Given the description of an element on the screen output the (x, y) to click on. 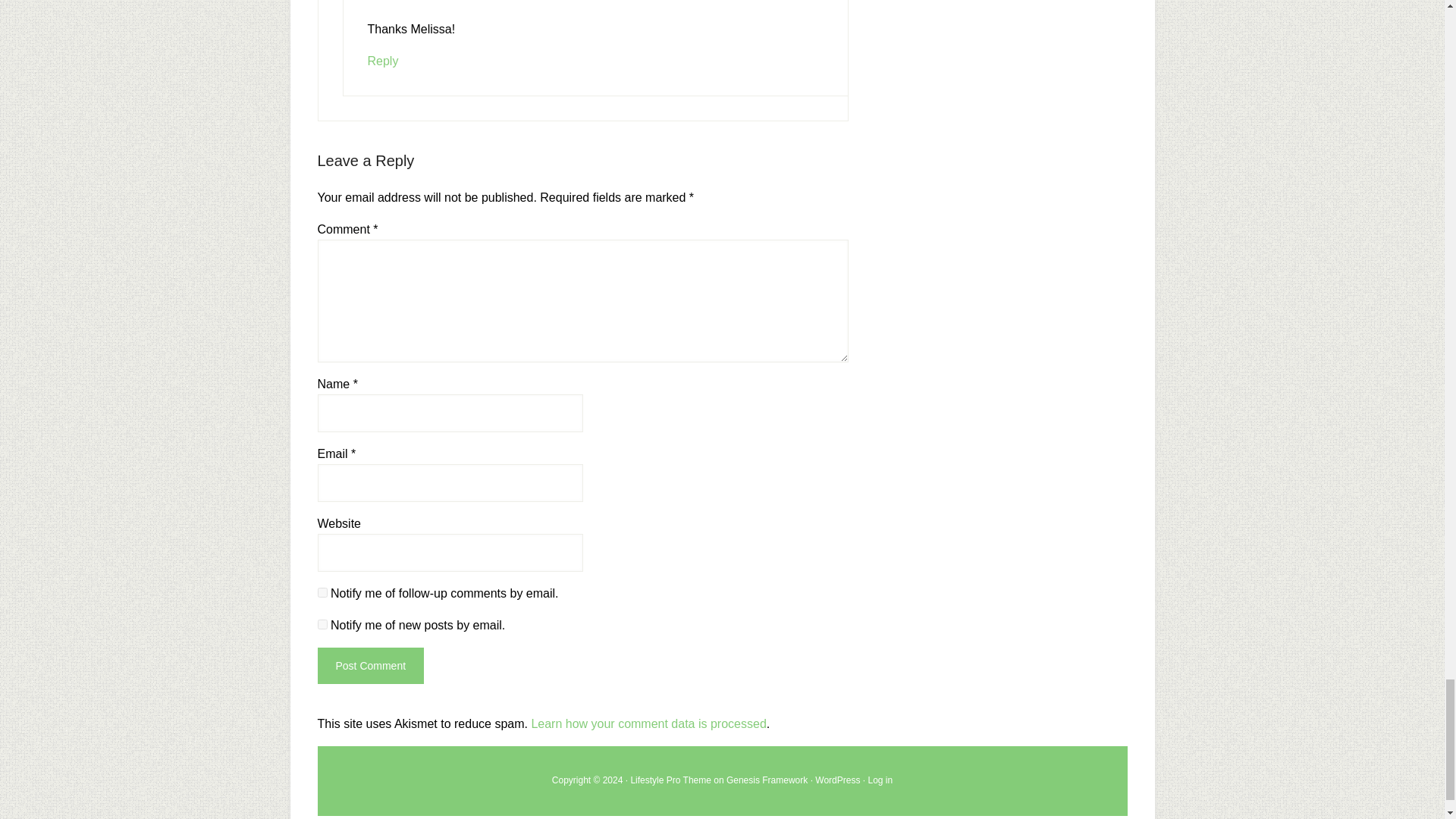
subscribe (321, 592)
Reply (381, 60)
subscribe (321, 624)
Post Comment (370, 665)
